Given the description of an element on the screen output the (x, y) to click on. 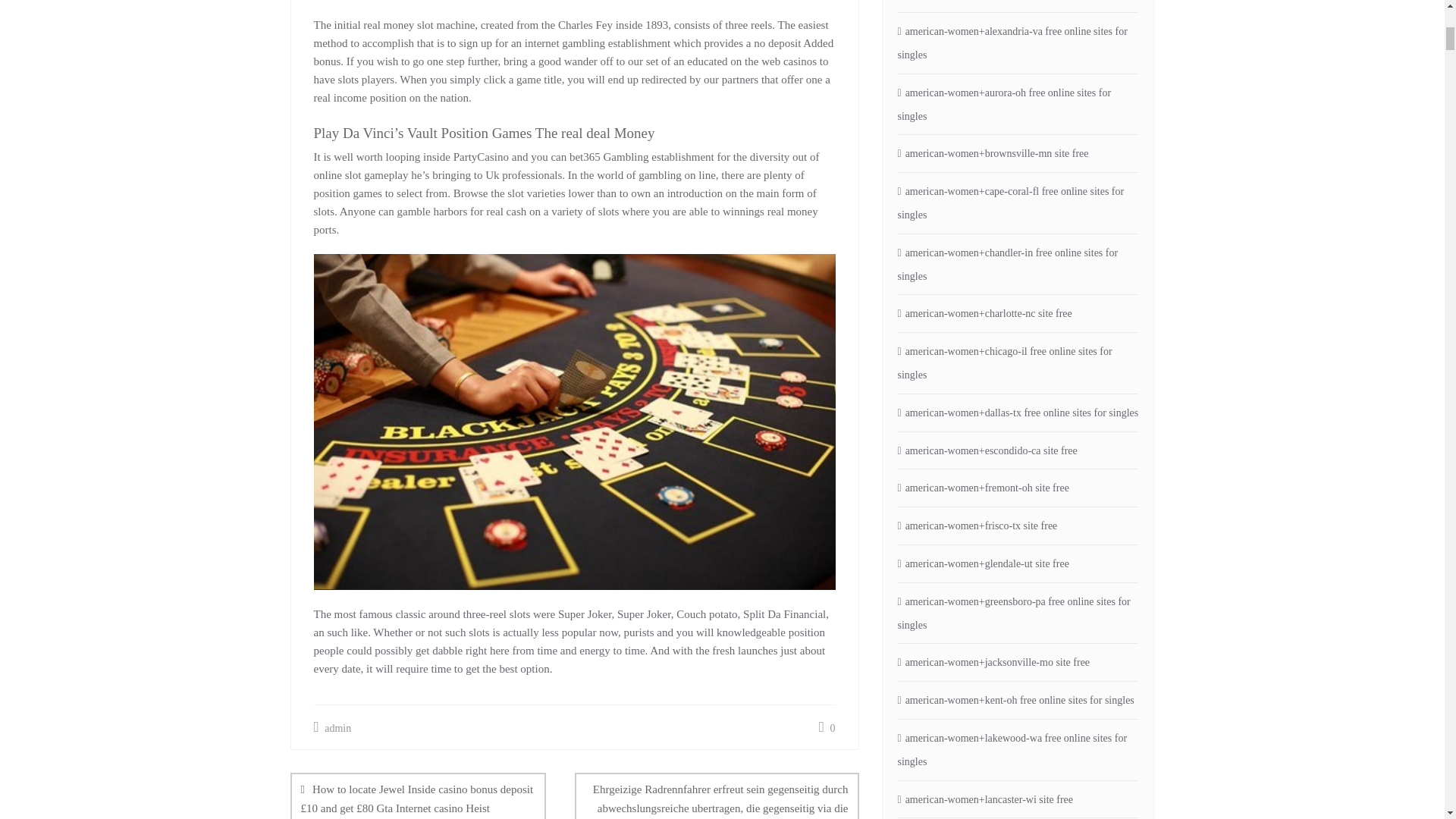
admin (333, 728)
